Given the description of an element on the screen output the (x, y) to click on. 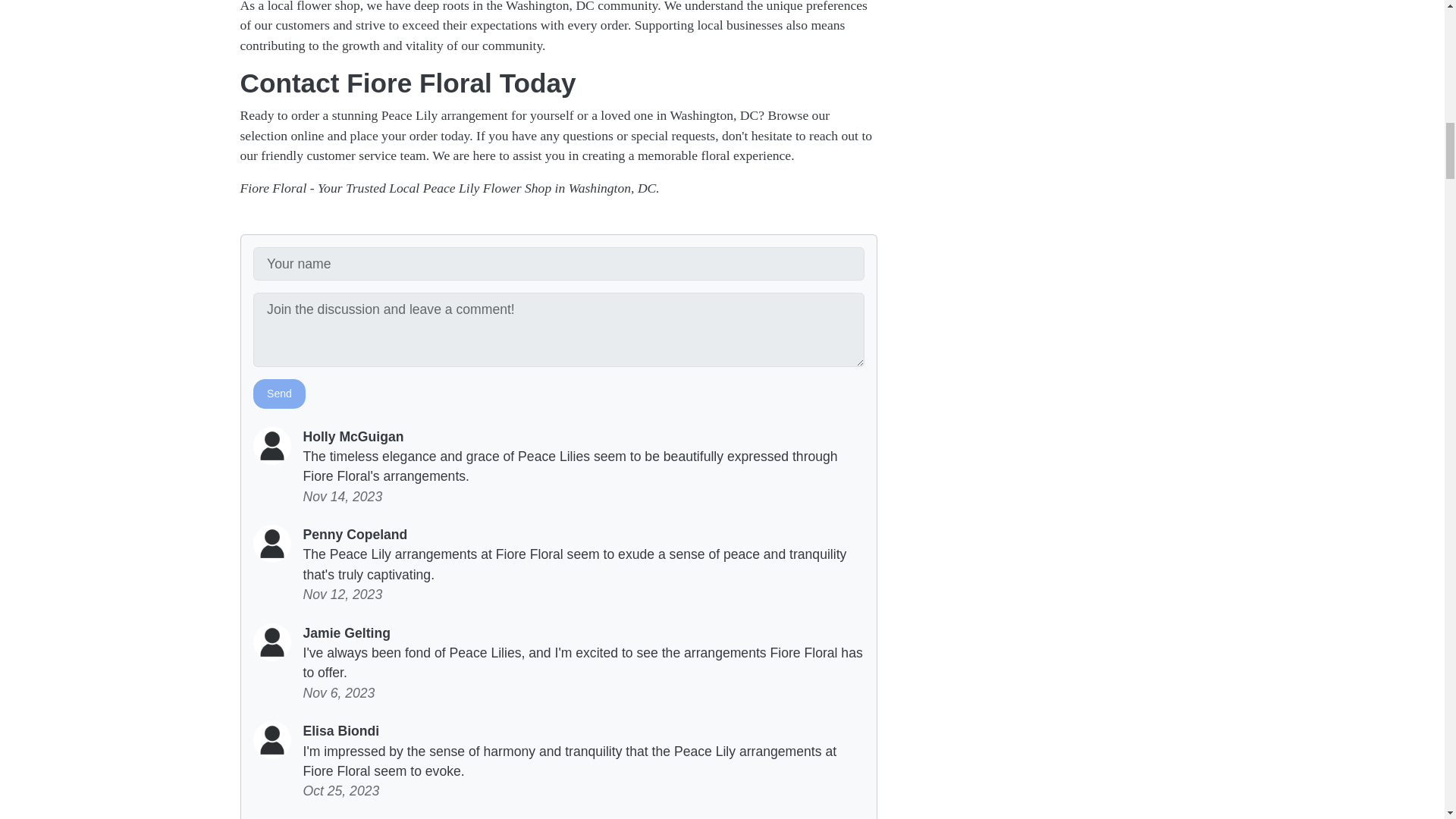
Send (279, 393)
Send (279, 393)
